Given the description of an element on the screen output the (x, y) to click on. 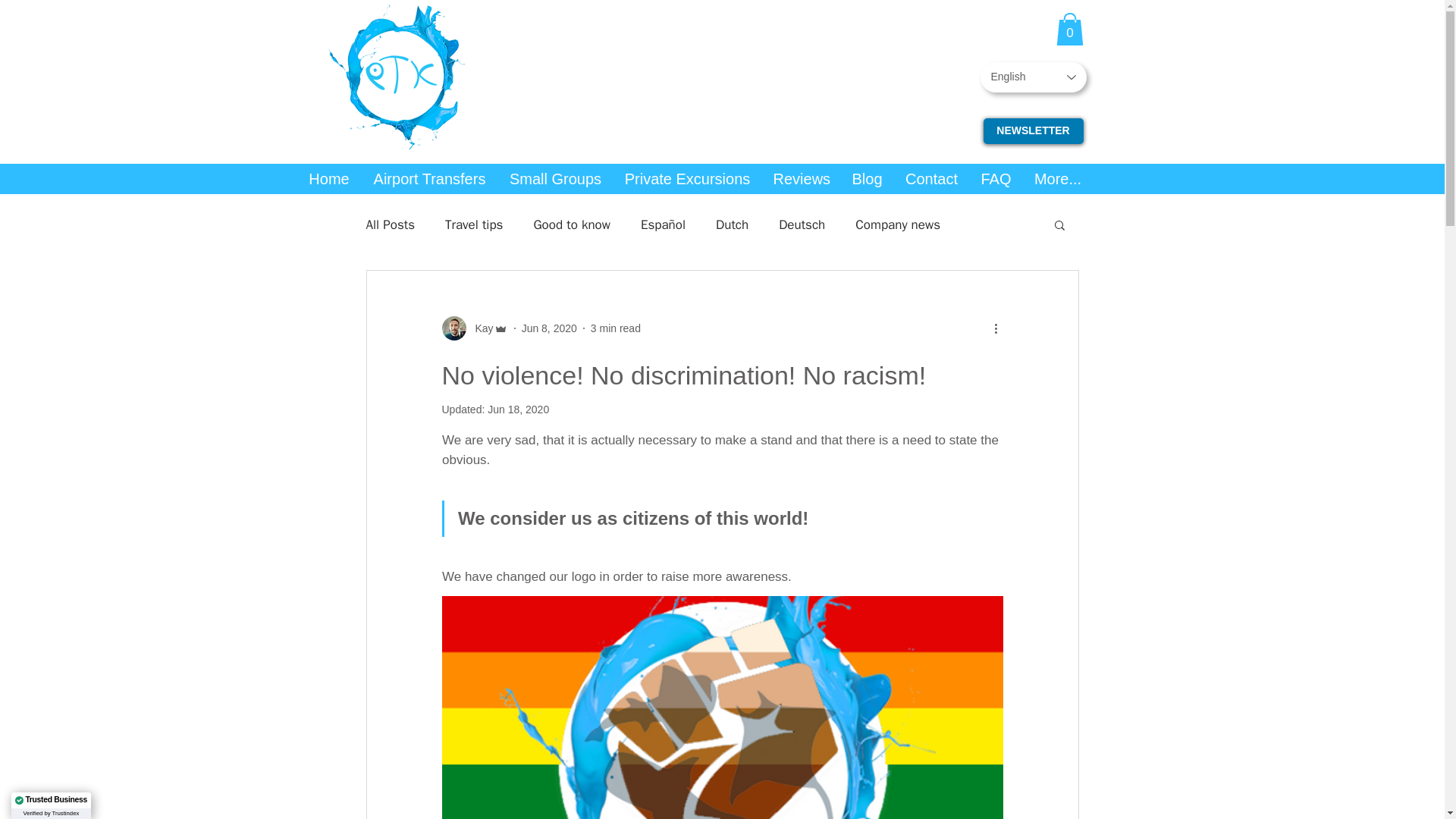
NEWSLETTER (1032, 130)
Kay (473, 328)
Small Groups (554, 178)
KayTours - Because we care (398, 74)
Deutsch (801, 224)
Dutch (732, 224)
Jun 8, 2020 (548, 328)
Reviews (800, 178)
All Posts (389, 224)
3 min read (615, 328)
